Given the description of an element on the screen output the (x, y) to click on. 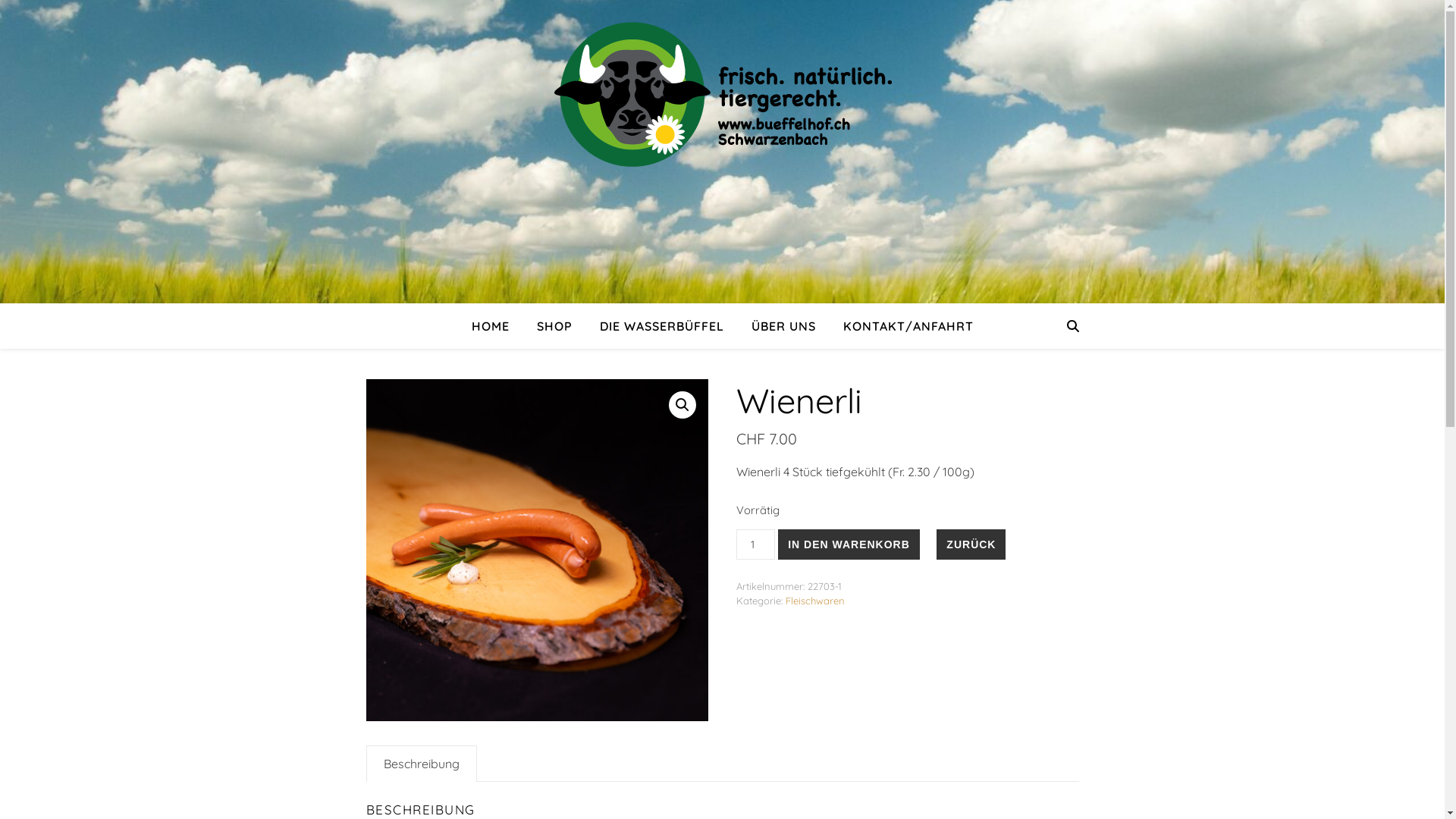
Fleischwaren Element type: text (814, 600)
KONTAKT/ANFAHRT Element type: text (902, 325)
SHOP Element type: text (554, 325)
HOME Element type: text (496, 325)
IN DEN WARENKORB Element type: text (848, 544)
Beschreibung Element type: text (421, 763)
Wienerli Element type: hover (536, 550)
